Given the description of an element on the screen output the (x, y) to click on. 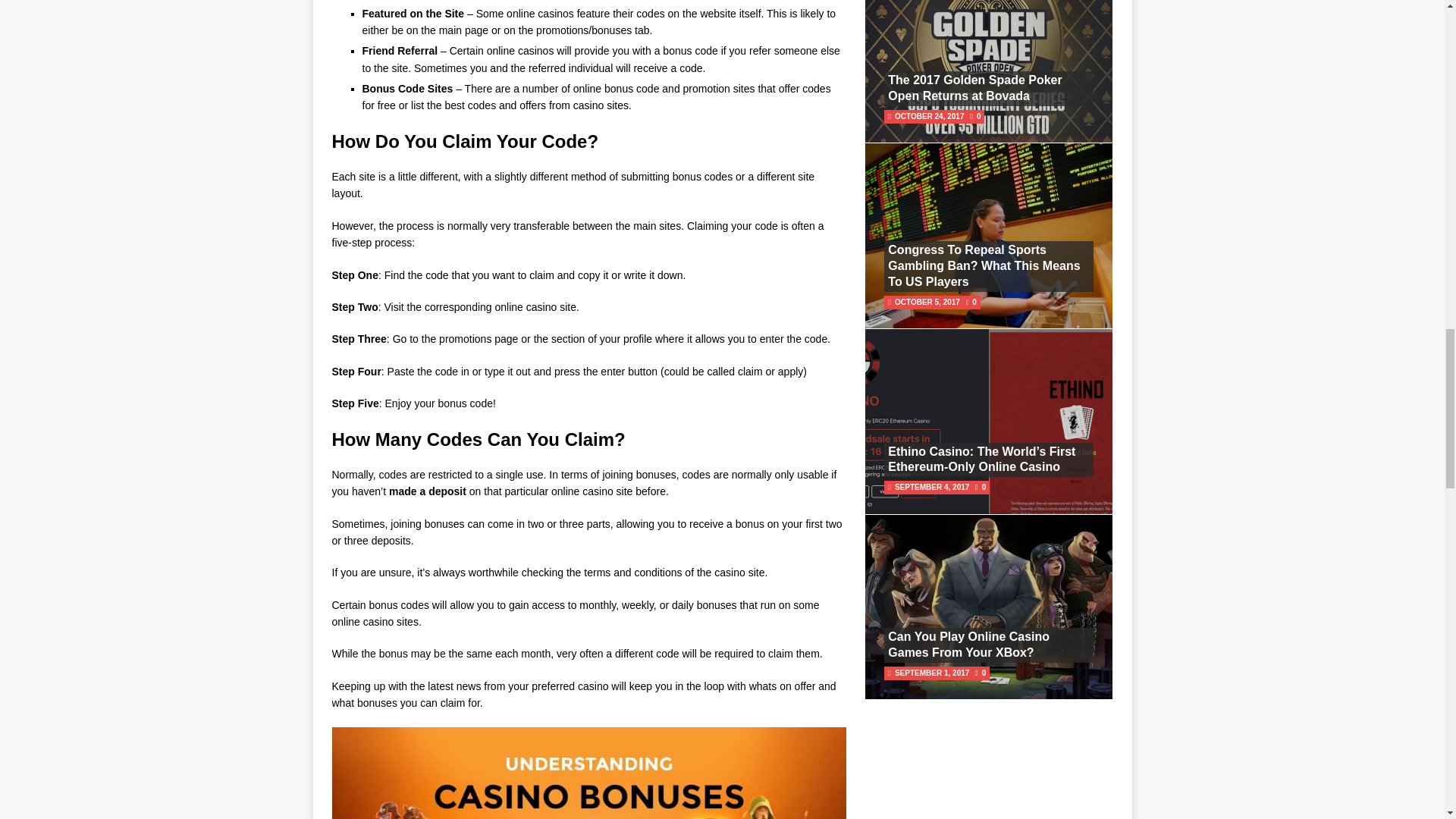
The 2017 Golden Spade Poker Open Returns at Bovada (974, 87)
Can You Play Online Casino Games From Your XBox? (968, 644)
